Given the description of an element on the screen output the (x, y) to click on. 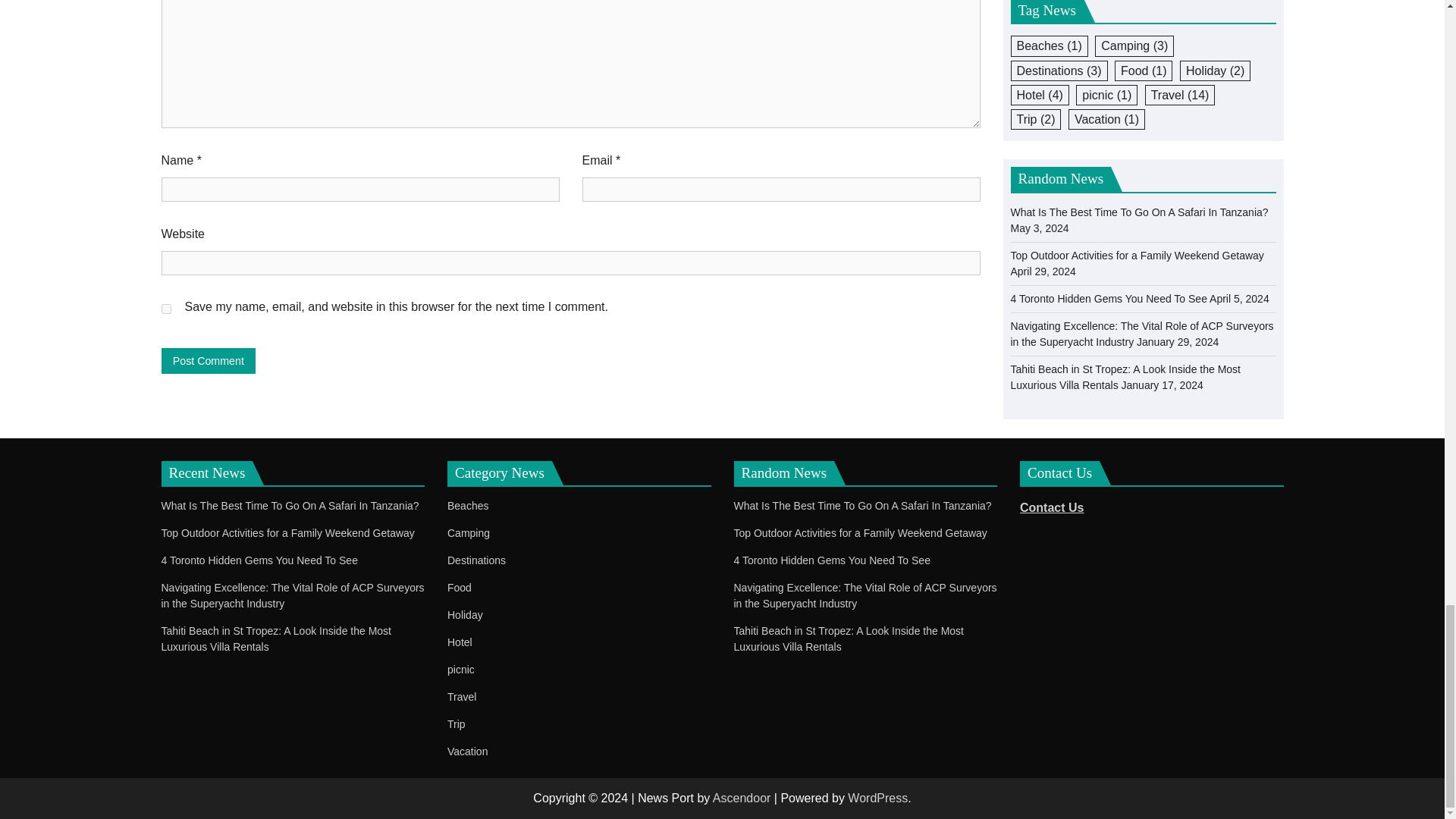
Post Comment (208, 360)
Post Comment (208, 360)
yes (165, 308)
